Given the description of an element on the screen output the (x, y) to click on. 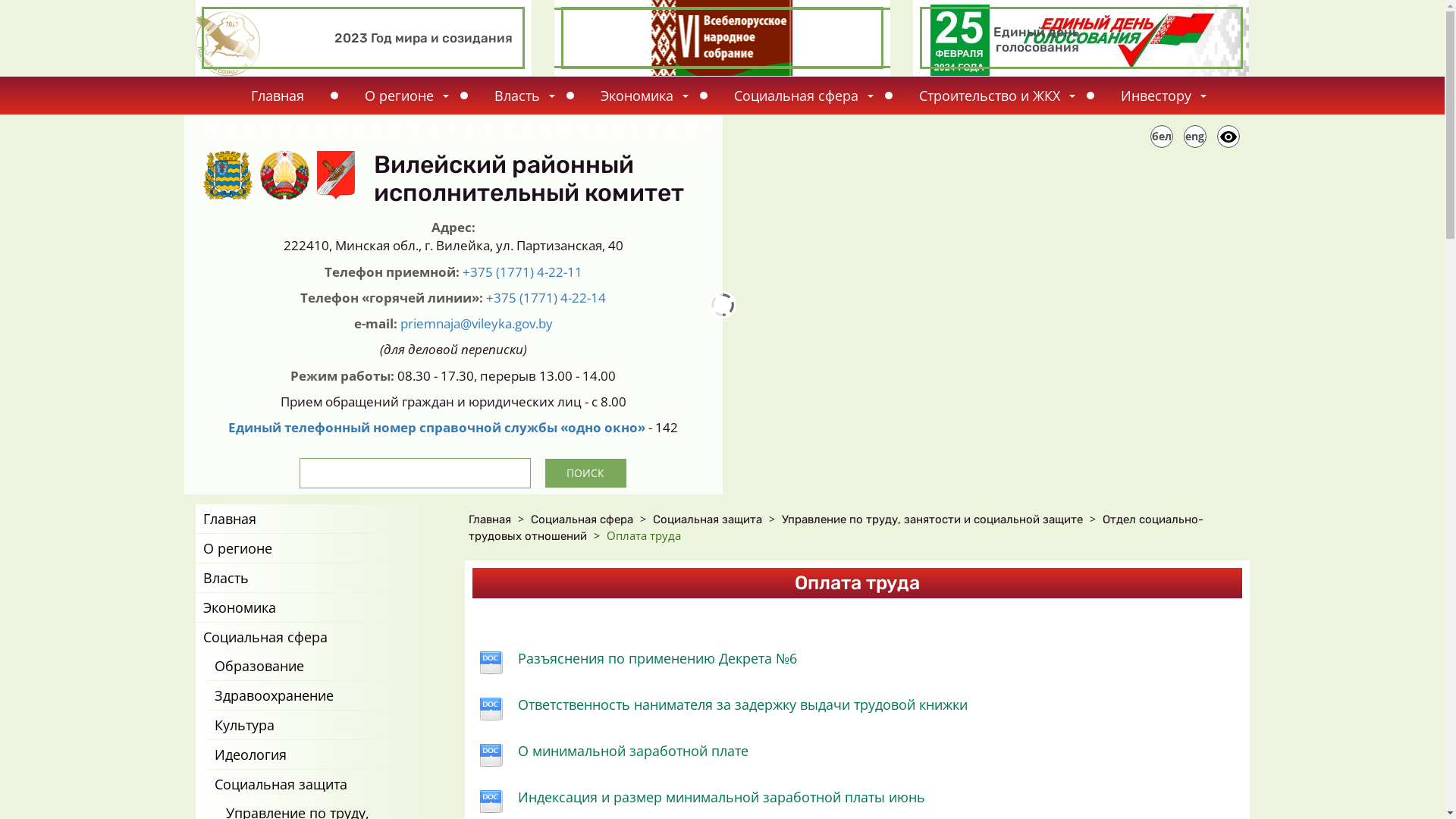
+375 (1771) 4-22-11 Element type: text (522, 271)
eng Element type: text (1194, 136)
  Element type: hover (722, 37)
priemnaja@vileyka.gov.by Element type: text (476, 323)
